Given the description of an element on the screen output the (x, y) to click on. 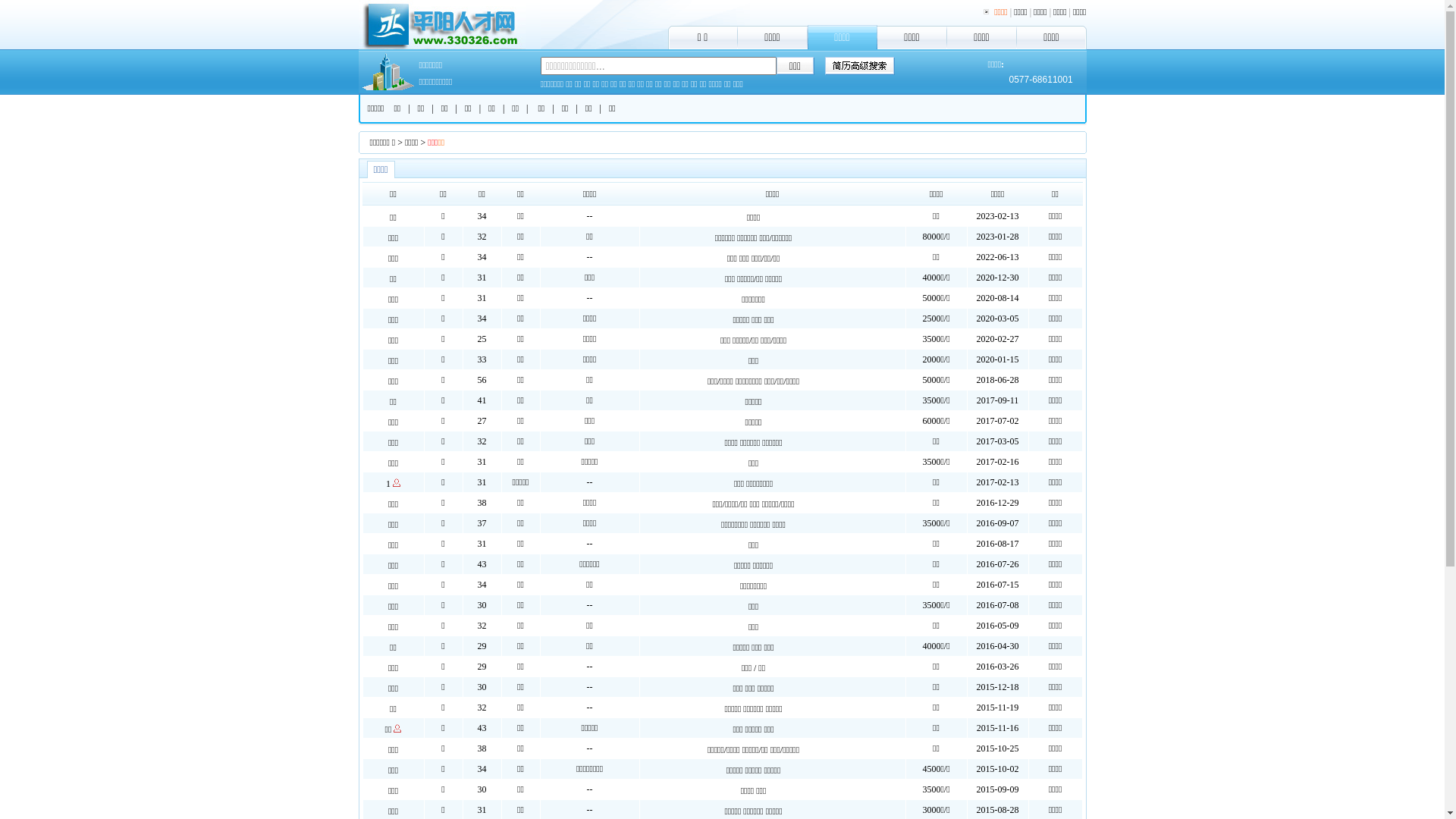
1 Element type: text (387, 483)
